Given the description of an element on the screen output the (x, y) to click on. 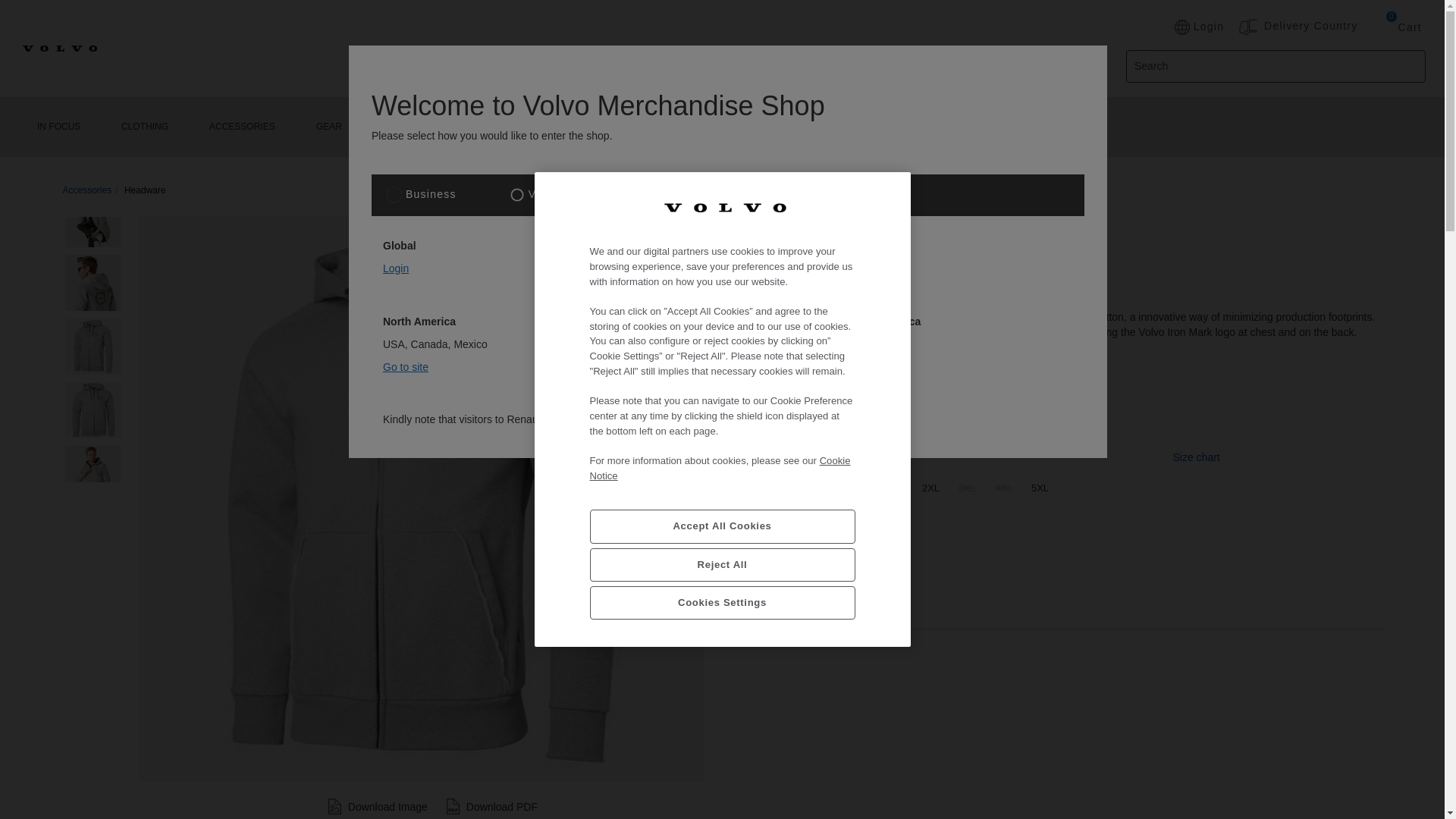
Go to site (642, 344)
0 (1381, 26)
1 (394, 194)
0 (1382, 26)
1 (755, 596)
www.eshop.renault-trucks.com (804, 419)
 Max 100 characters. (1275, 65)
CLOTHING (144, 127)
Go to site (881, 344)
3 (714, 194)
Login (1198, 27)
Go to site (405, 367)
Login (395, 268)
Delivery Country (1309, 26)
2 (516, 194)
